Given the description of an element on the screen output the (x, y) to click on. 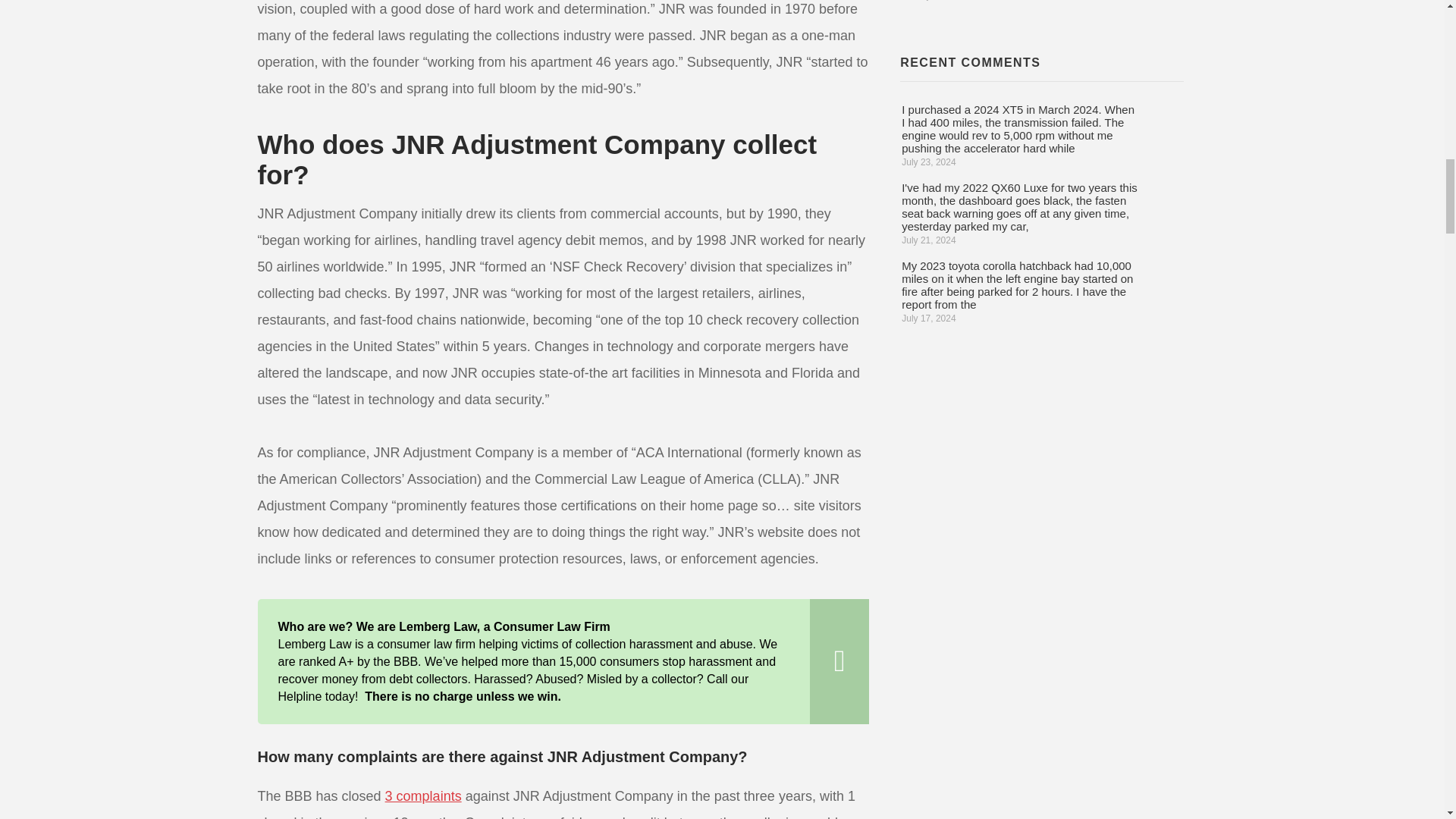
3 complaints (423, 795)
